Given the description of an element on the screen output the (x, y) to click on. 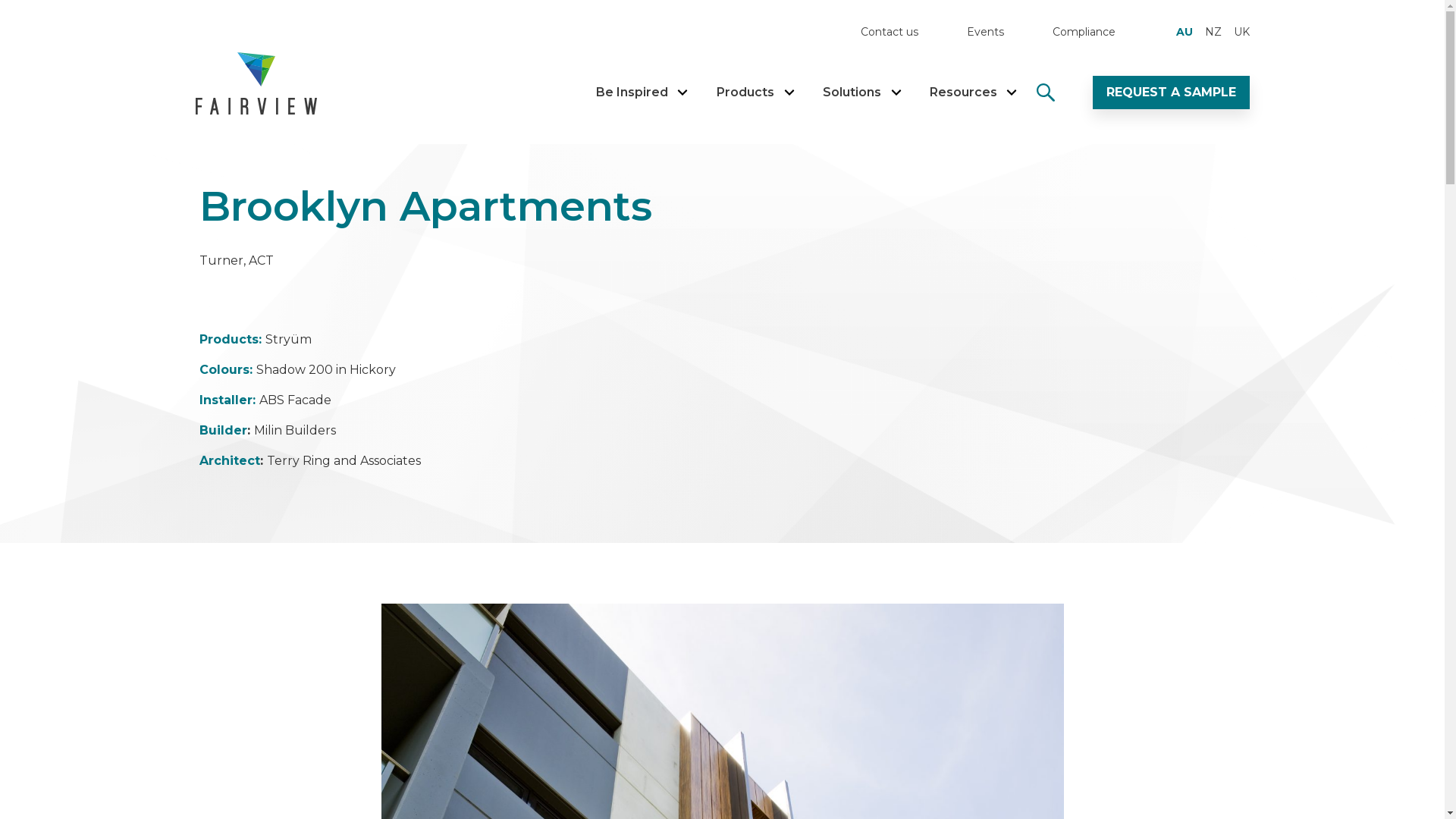
Events Element type: text (984, 31)
Be Inspired Element type: text (631, 92)
Solutions Element type: text (850, 92)
Contact us Element type: text (888, 31)
REQUEST A SAMPLE Element type: text (1170, 92)
Compliance Element type: text (1083, 31)
Resources Element type: text (963, 92)
UK Element type: text (1240, 31)
AU Element type: text (1183, 31)
NZ Element type: text (1212, 31)
Products Element type: text (744, 92)
